Given the description of an element on the screen output the (x, y) to click on. 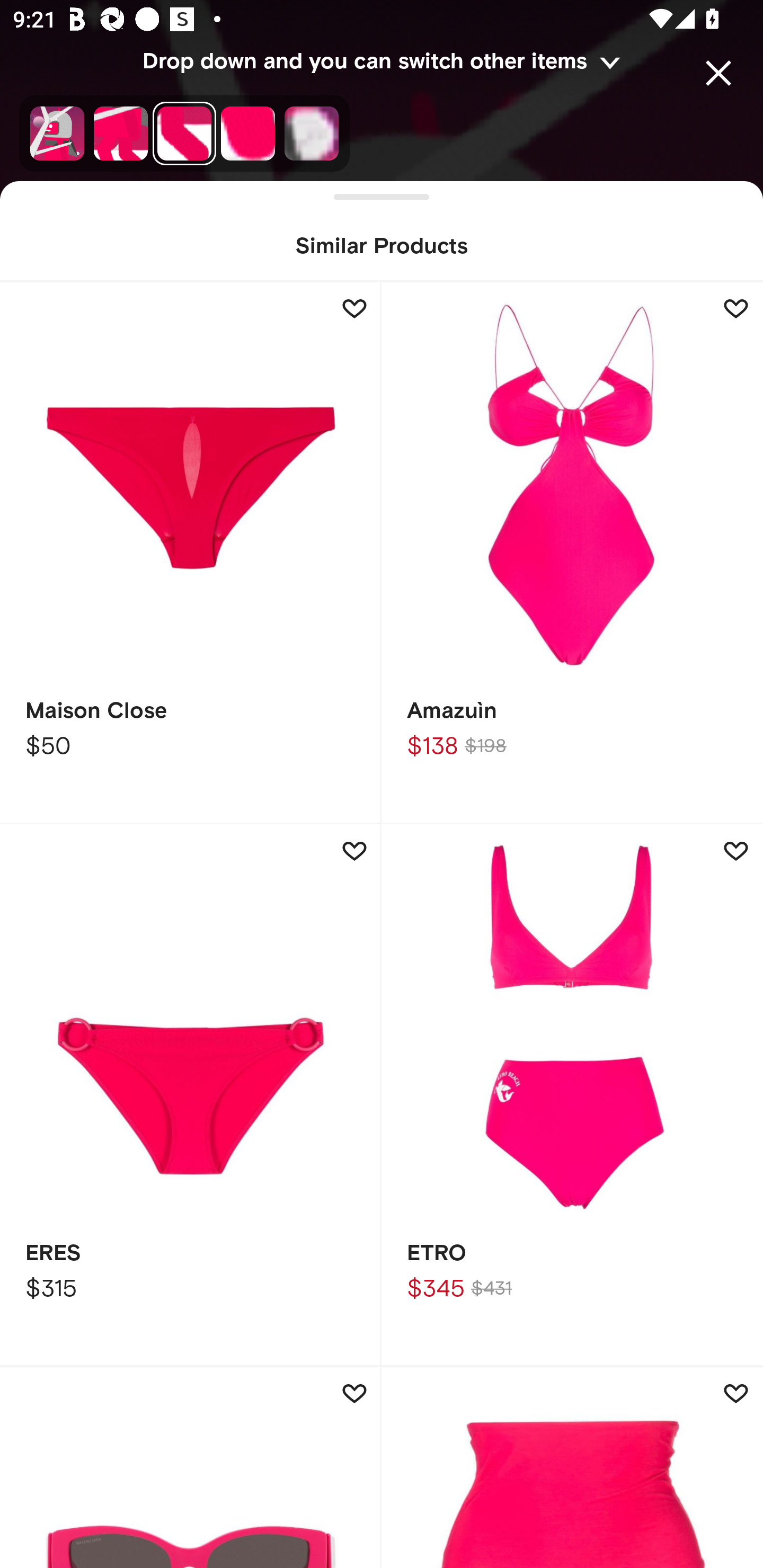
Maison Close $50 (190, 553)
Amazuìn $138 $198 (572, 553)
ERES $315 (190, 1095)
ETRO $345 $431 (572, 1095)
